Given the description of an element on the screen output the (x, y) to click on. 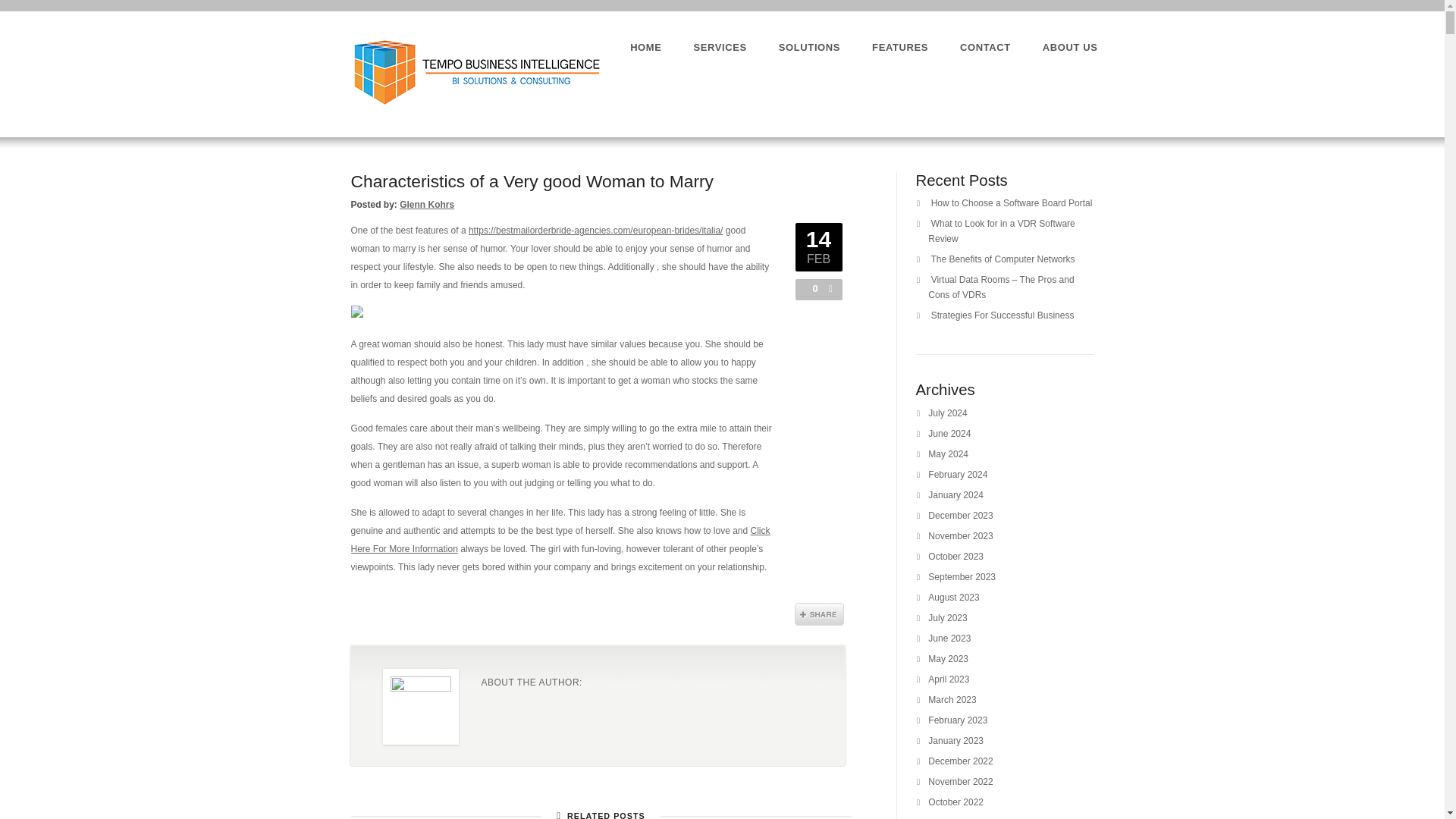
Glenn Kohrs (426, 204)
How to Choose a Software Board Portal (1012, 203)
The Benefits of Computer Networks (1002, 258)
Posts by Glenn Kohrs (426, 204)
What to Look for in a VDR Software Review (1001, 231)
Click Here For More Information (560, 539)
ABOUT US (1069, 47)
HOME (645, 47)
FEATURES (900, 47)
0 (811, 288)
SERVICES (720, 47)
SOLUTIONS (809, 47)
Share (819, 613)
CONTACT (984, 47)
